Given the description of an element on the screen output the (x, y) to click on. 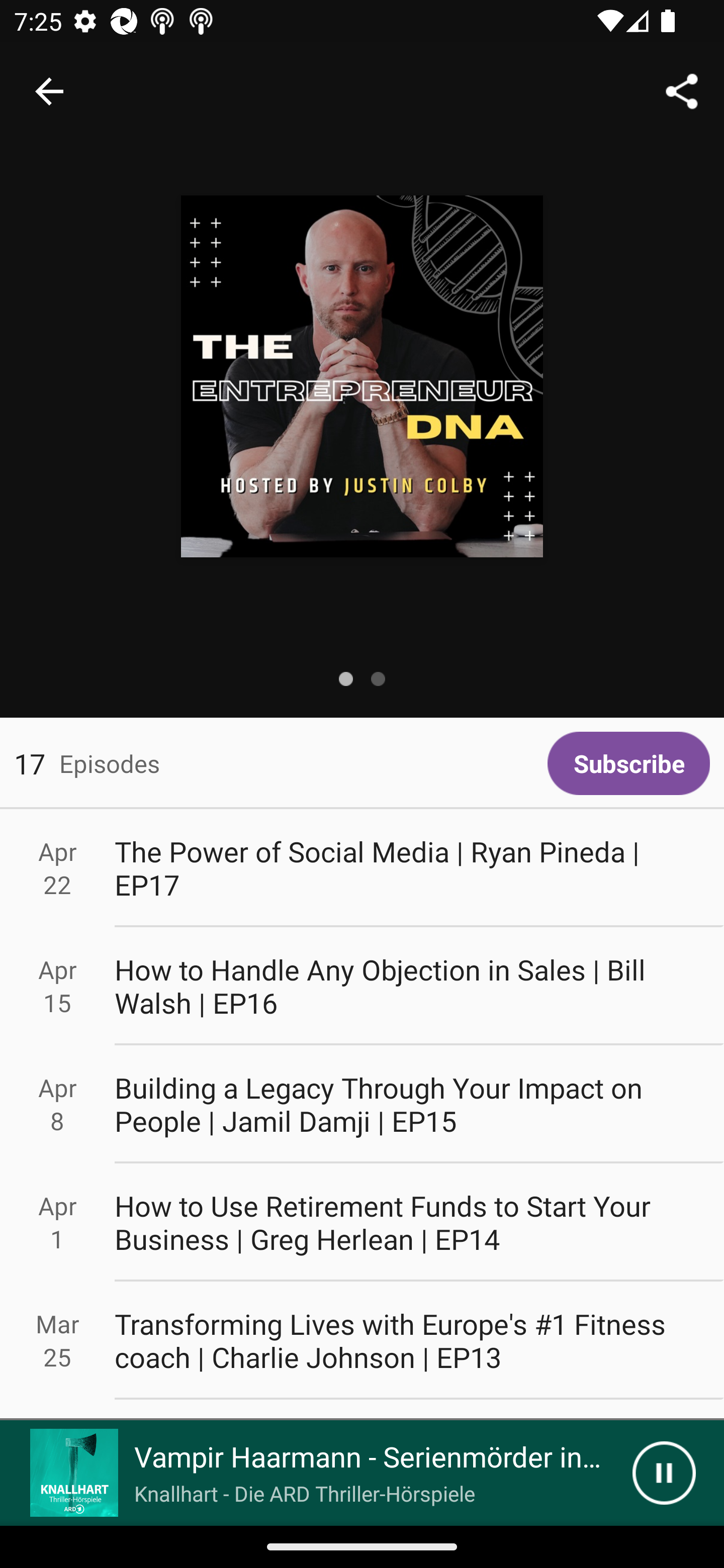
Navigate up (49, 91)
Share... (681, 90)
Subscribe (628, 763)
Pause (663, 1472)
